Given the description of an element on the screen output the (x, y) to click on. 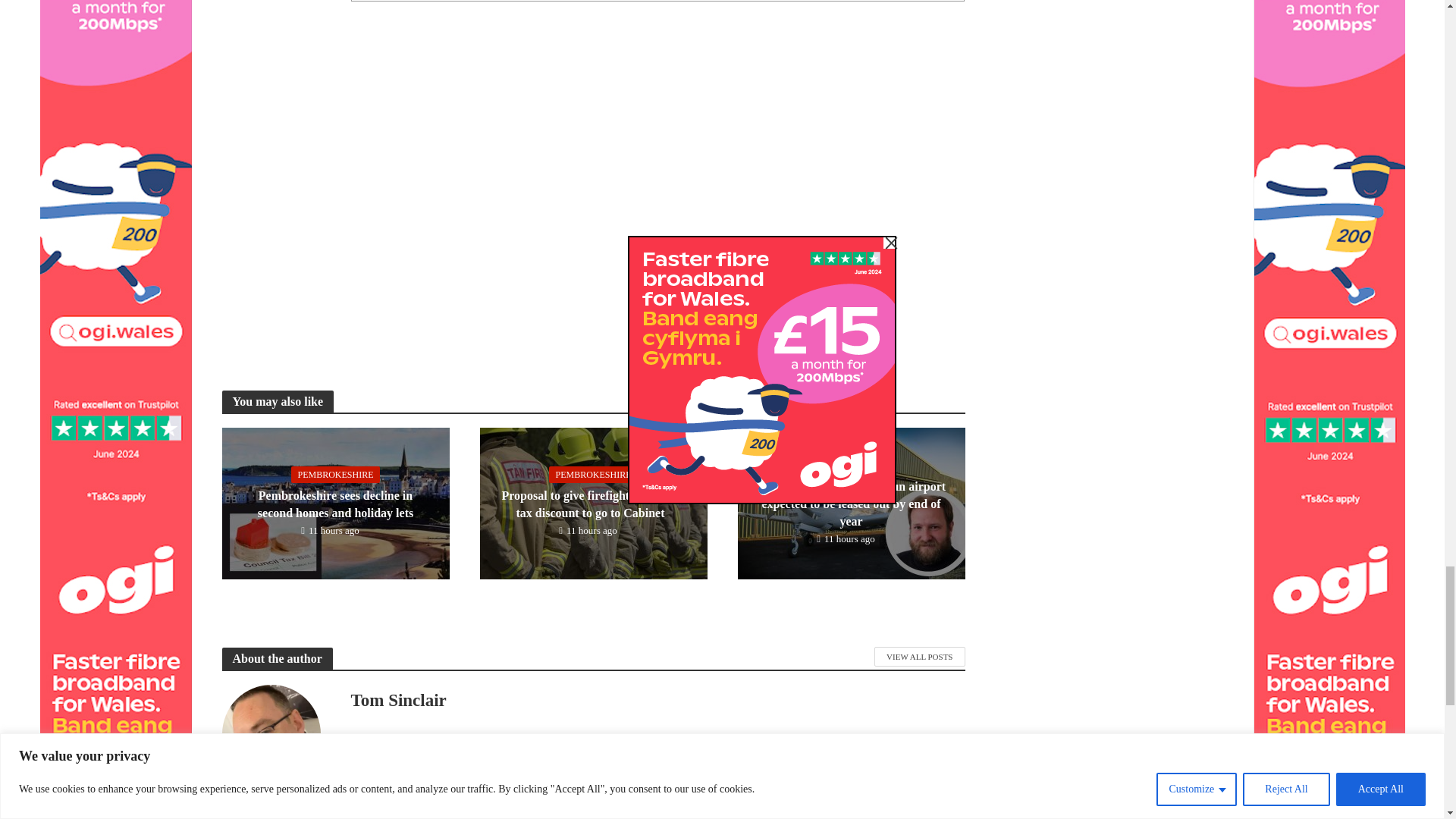
Pembrokeshire sees decline in second homes and holiday lets (334, 501)
